Given the description of an element on the screen output the (x, y) to click on. 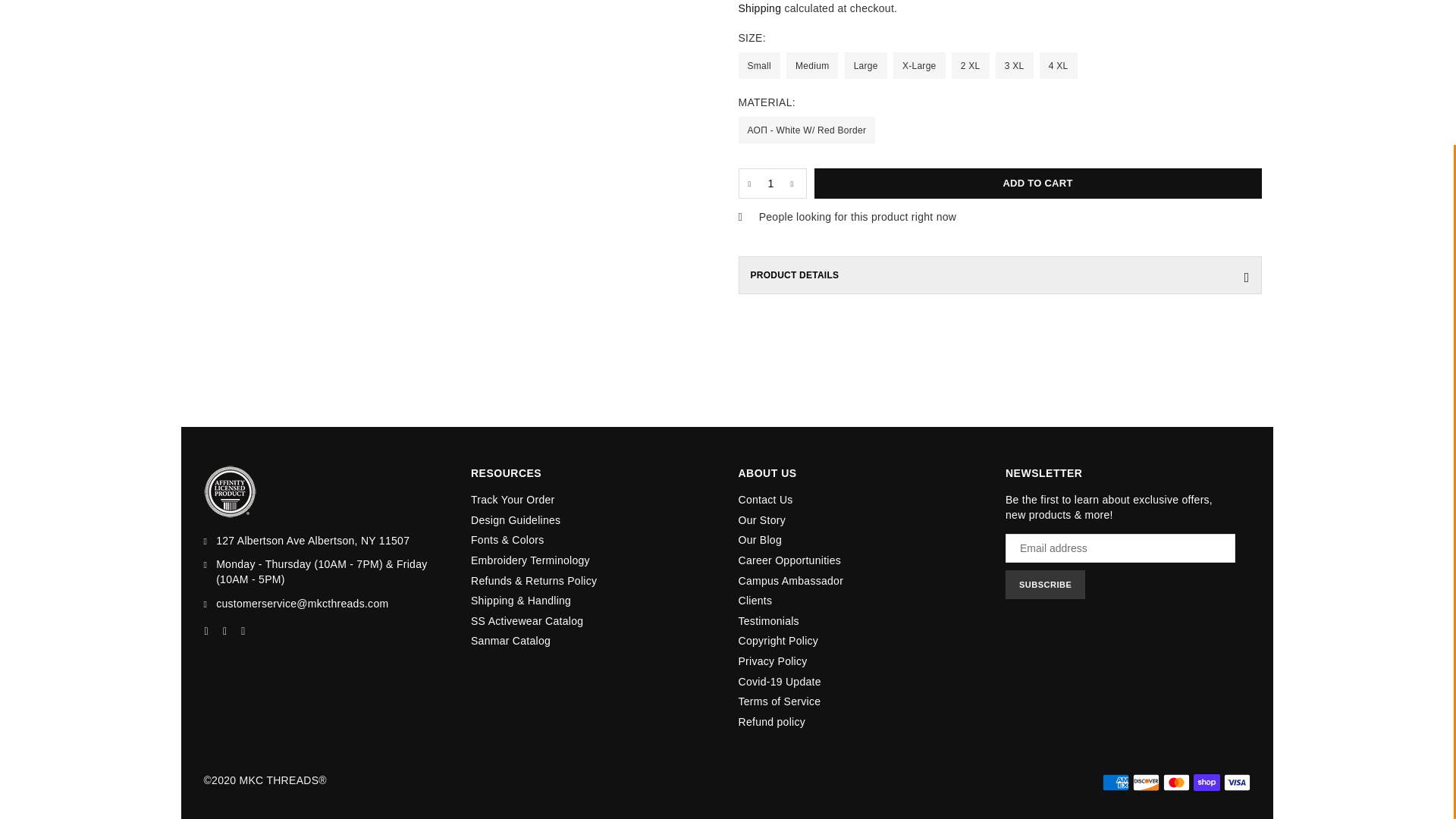
Mastercard (1176, 782)
American Express (1115, 782)
Quantity (772, 183)
Discover (1145, 782)
Visa (1237, 782)
Shop Pay (1206, 782)
